Given the description of an element on the screen output the (x, y) to click on. 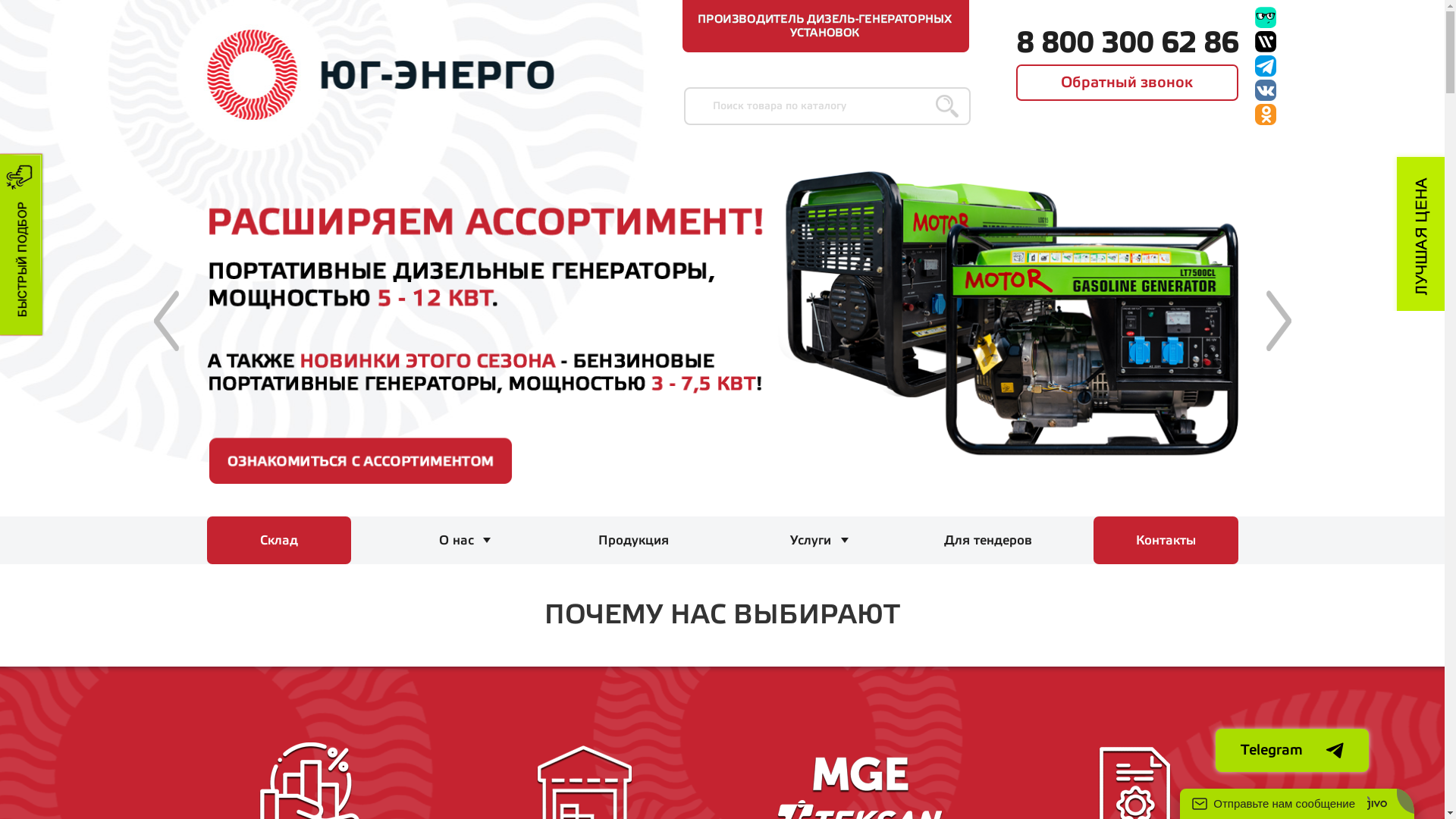
Previous Element type: text (165, 320)
Next Element type: text (1278, 320)
  Element type: text (1264, 111)
  Element type: text (1264, 87)
Telegram Element type: text (1291, 749)
  Element type: text (379, 74)
8 800 300 62 86 Element type: text (1127, 44)
  Element type: text (1264, 14)
  Element type: text (1264, 38)
  Element type: text (1264, 62)
  Element type: text (1418, 230)
